Given the description of an element on the screen output the (x, y) to click on. 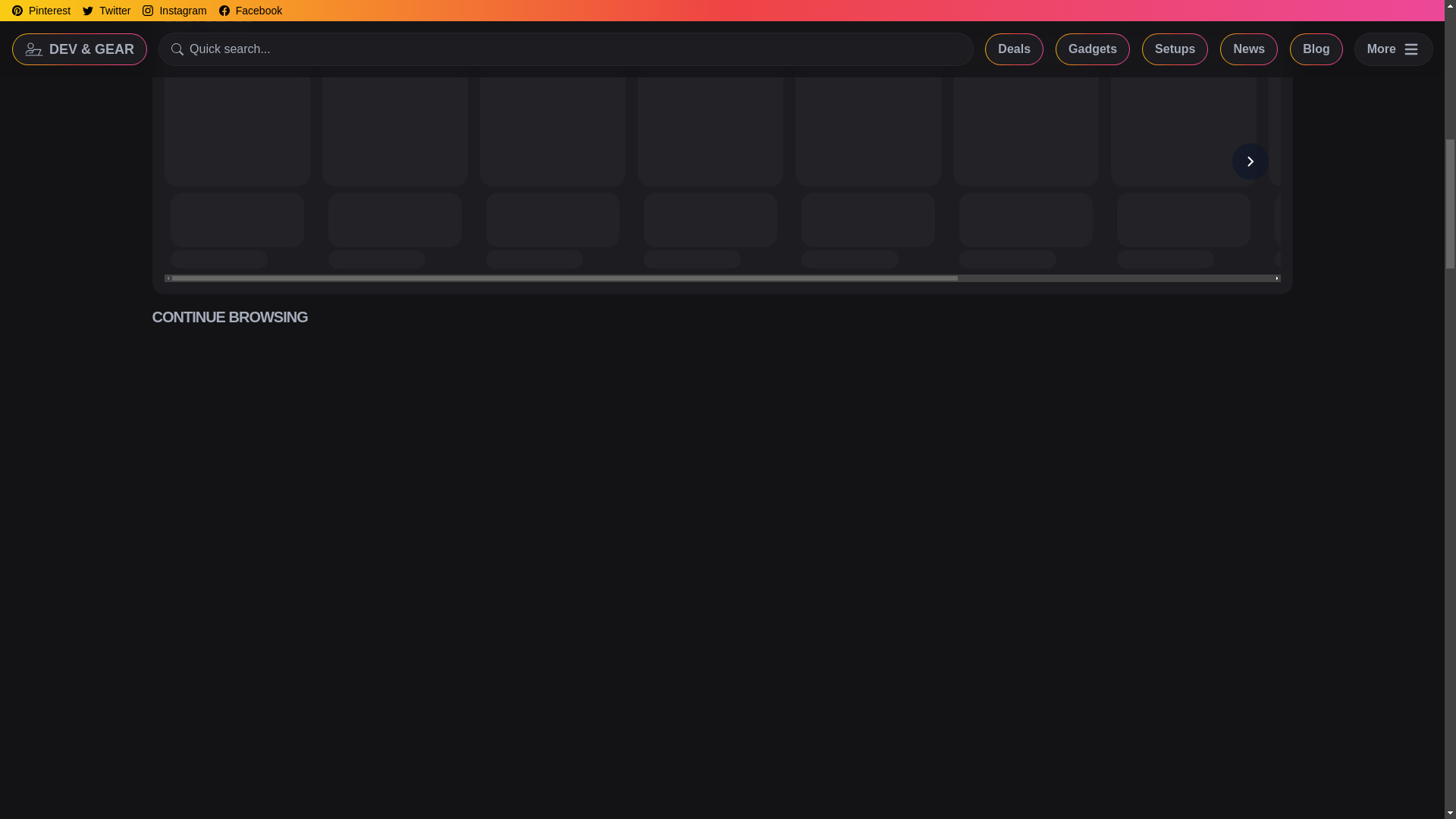
VIEW MORE (1239, 16)
